Given the description of an element on the screen output the (x, y) to click on. 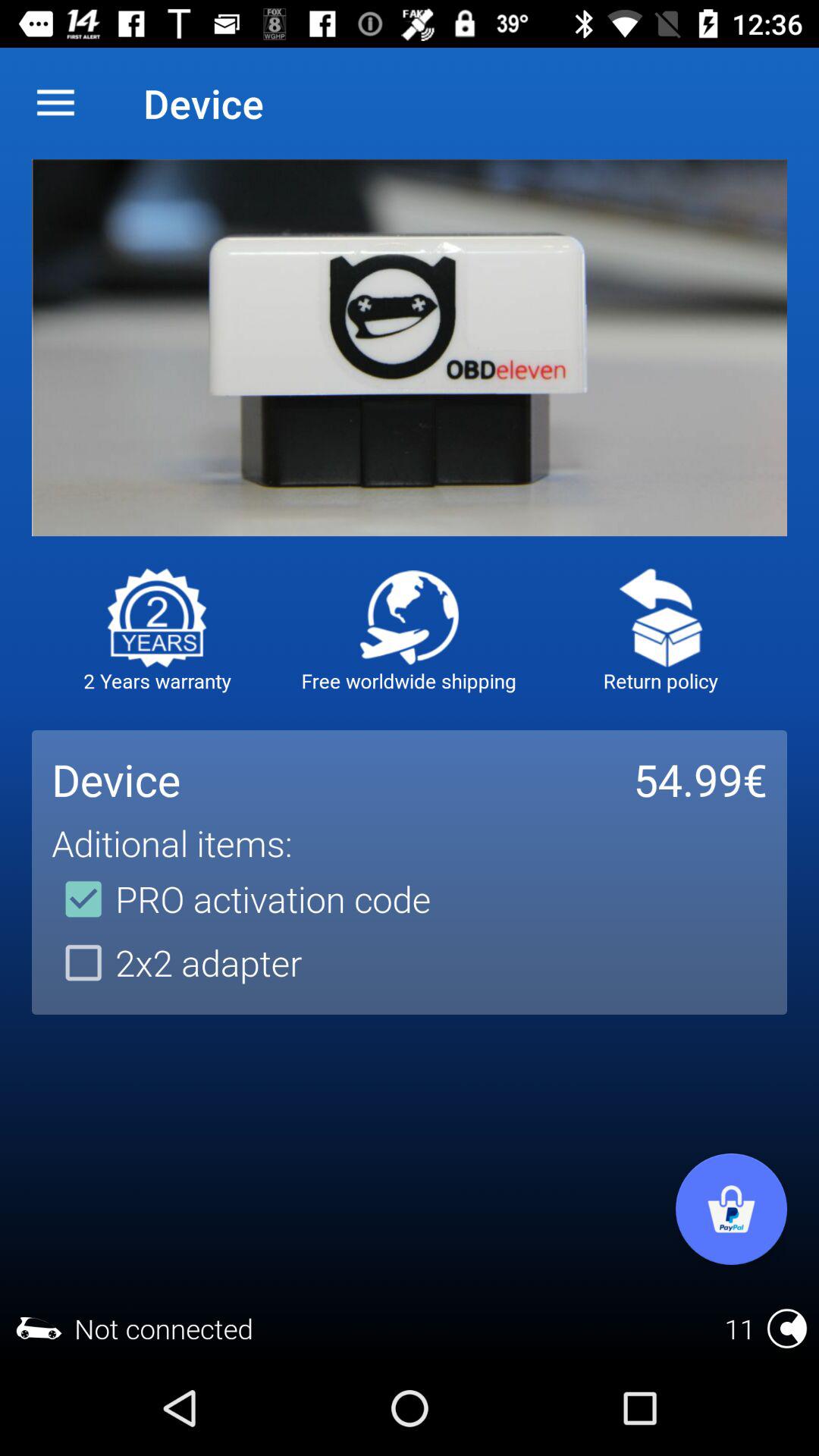
select shipping options (408, 617)
